Given the description of an element on the screen output the (x, y) to click on. 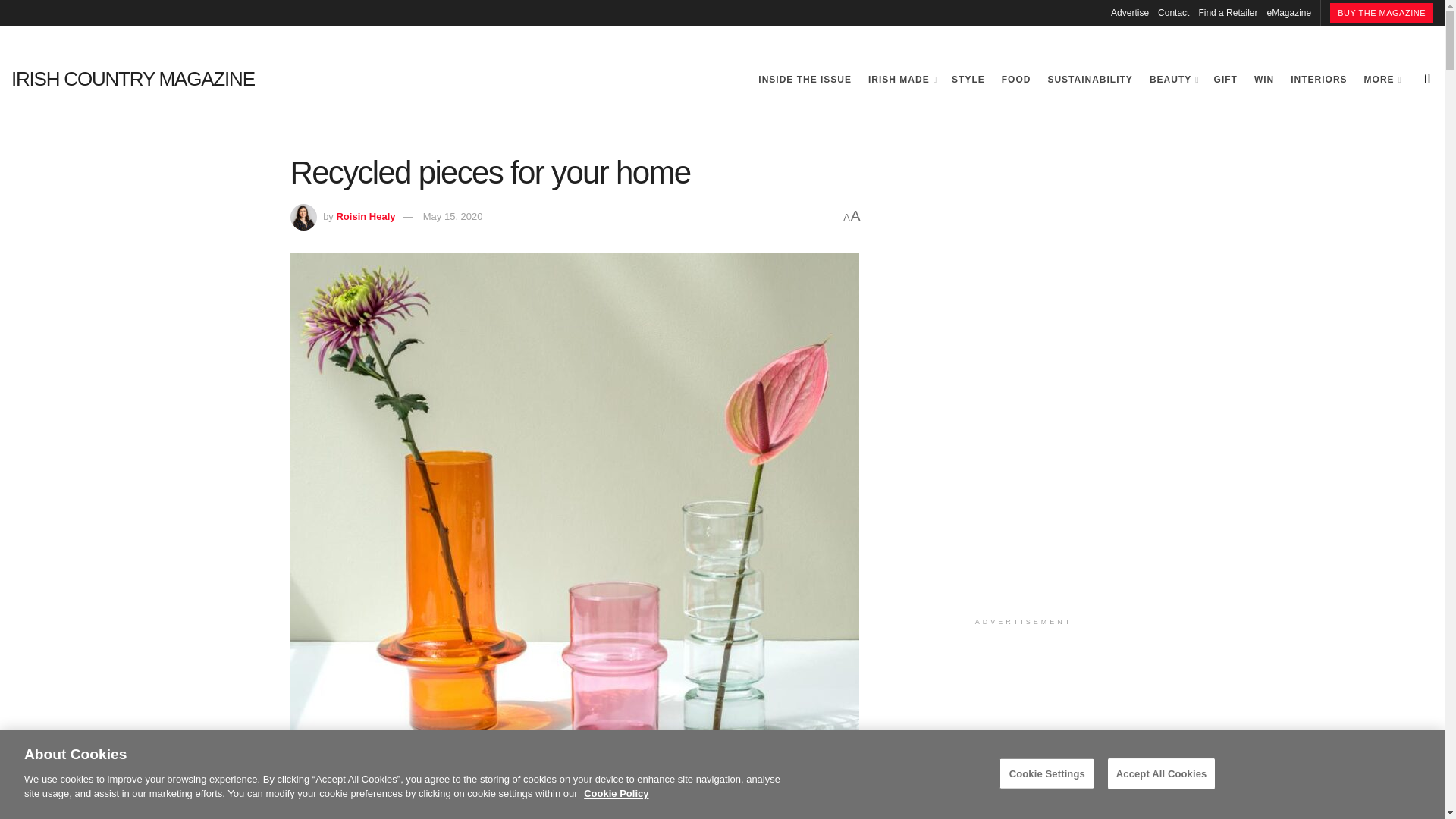
eMagazine (1288, 12)
BEAUTY (1173, 79)
GIFT (1225, 79)
WIN (1263, 79)
MORE (1381, 79)
STYLE (968, 79)
SUSTAINABILITY (1089, 79)
Advertise (1129, 12)
Find a Retailer (1227, 12)
Contact (1173, 12)
FOOD (1015, 79)
IRISH MADE (900, 79)
INTERIORS (1318, 79)
BUY THE MAGAZINE (1381, 12)
INSIDE THE ISSUE (804, 79)
